Given the description of an element on the screen output the (x, y) to click on. 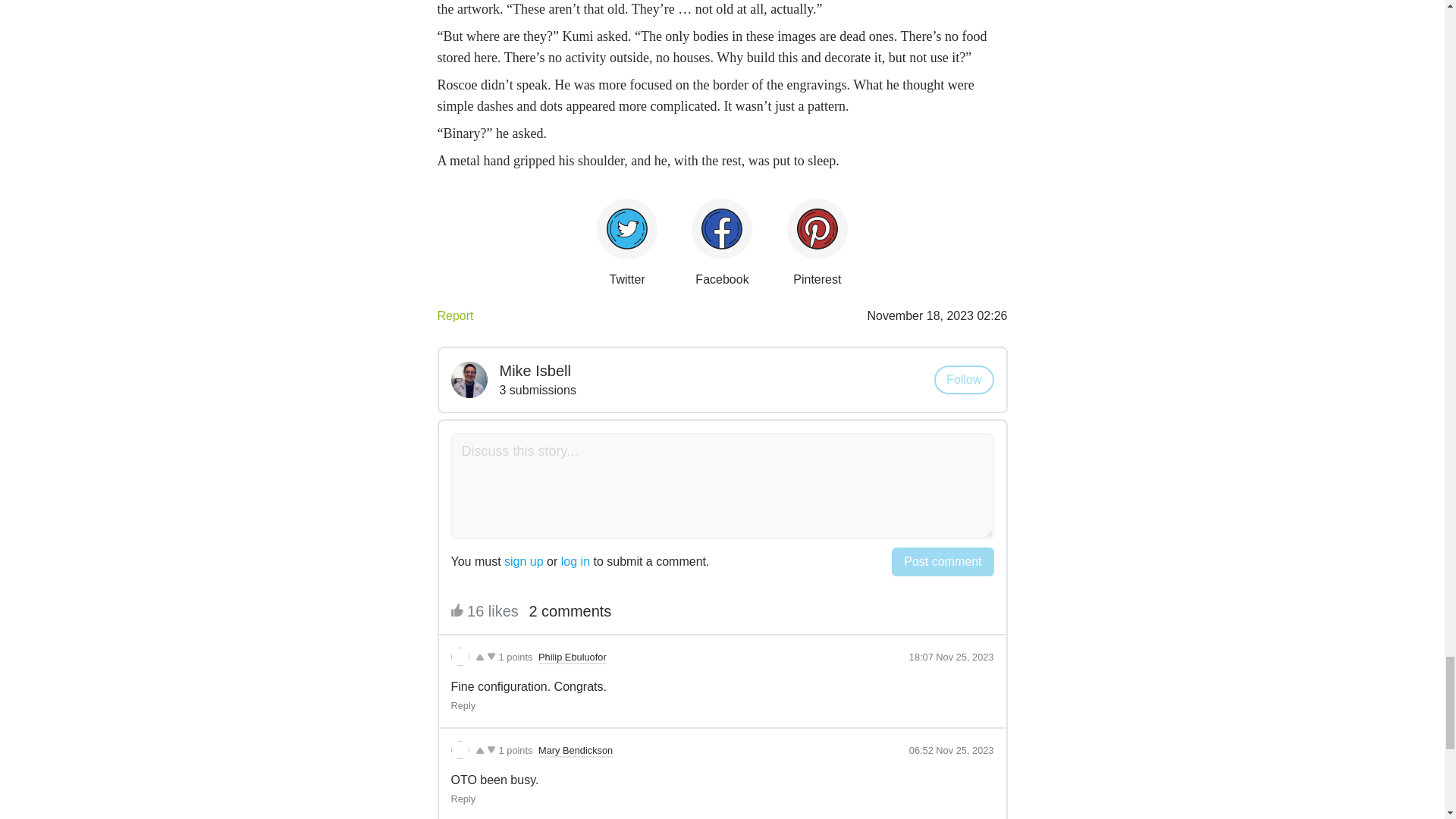
Post comment (941, 561)
